Given the description of an element on the screen output the (x, y) to click on. 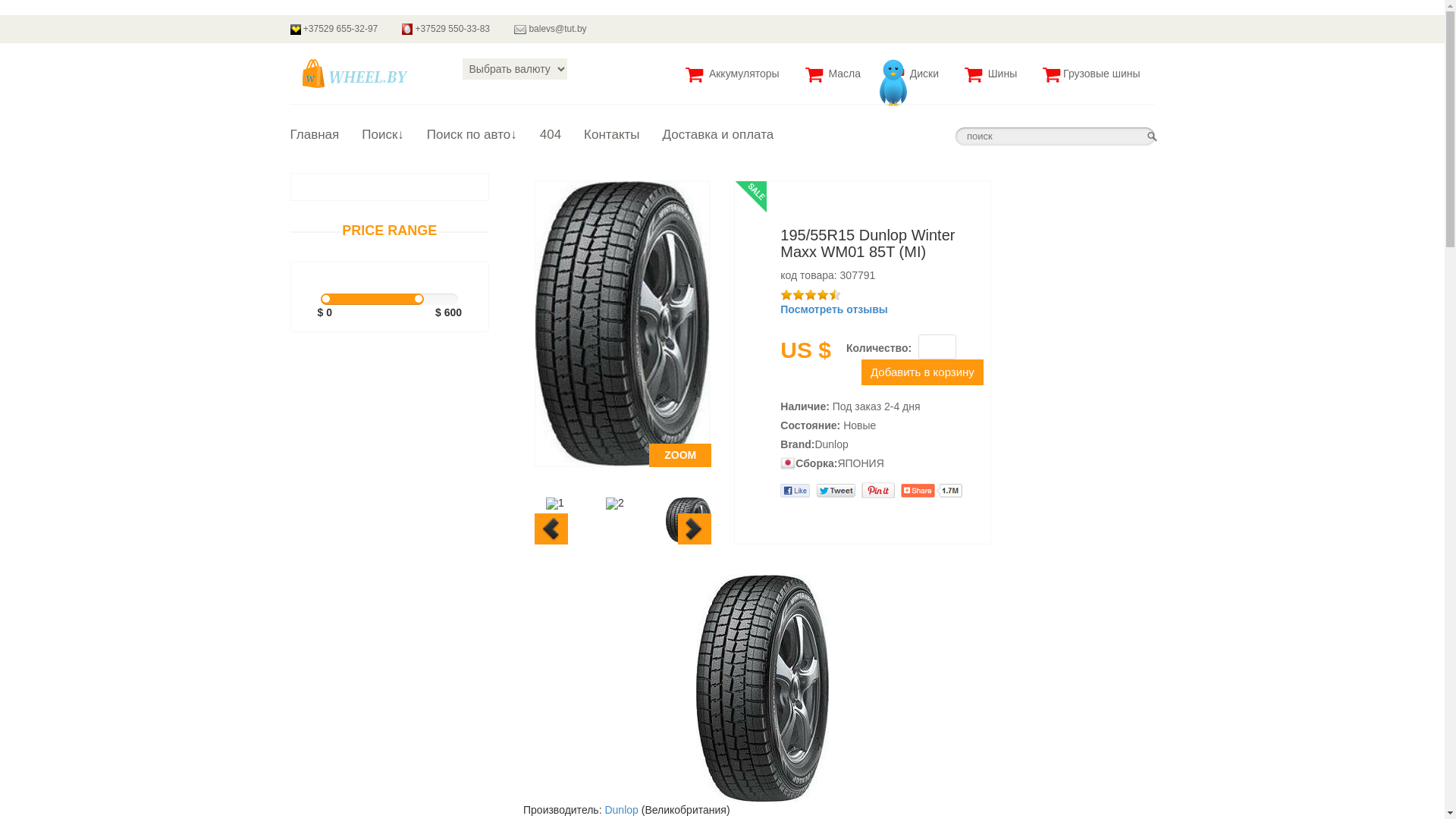
 balevs@tut.by Element type: text (550, 29)
404 Element type: text (550, 138)
 +37529 550-33-83 Element type: text (445, 29)
Dunlop Element type: text (620, 809)
 +37529 655-32-97 Element type: text (334, 29)
